Given the description of an element on the screen output the (x, y) to click on. 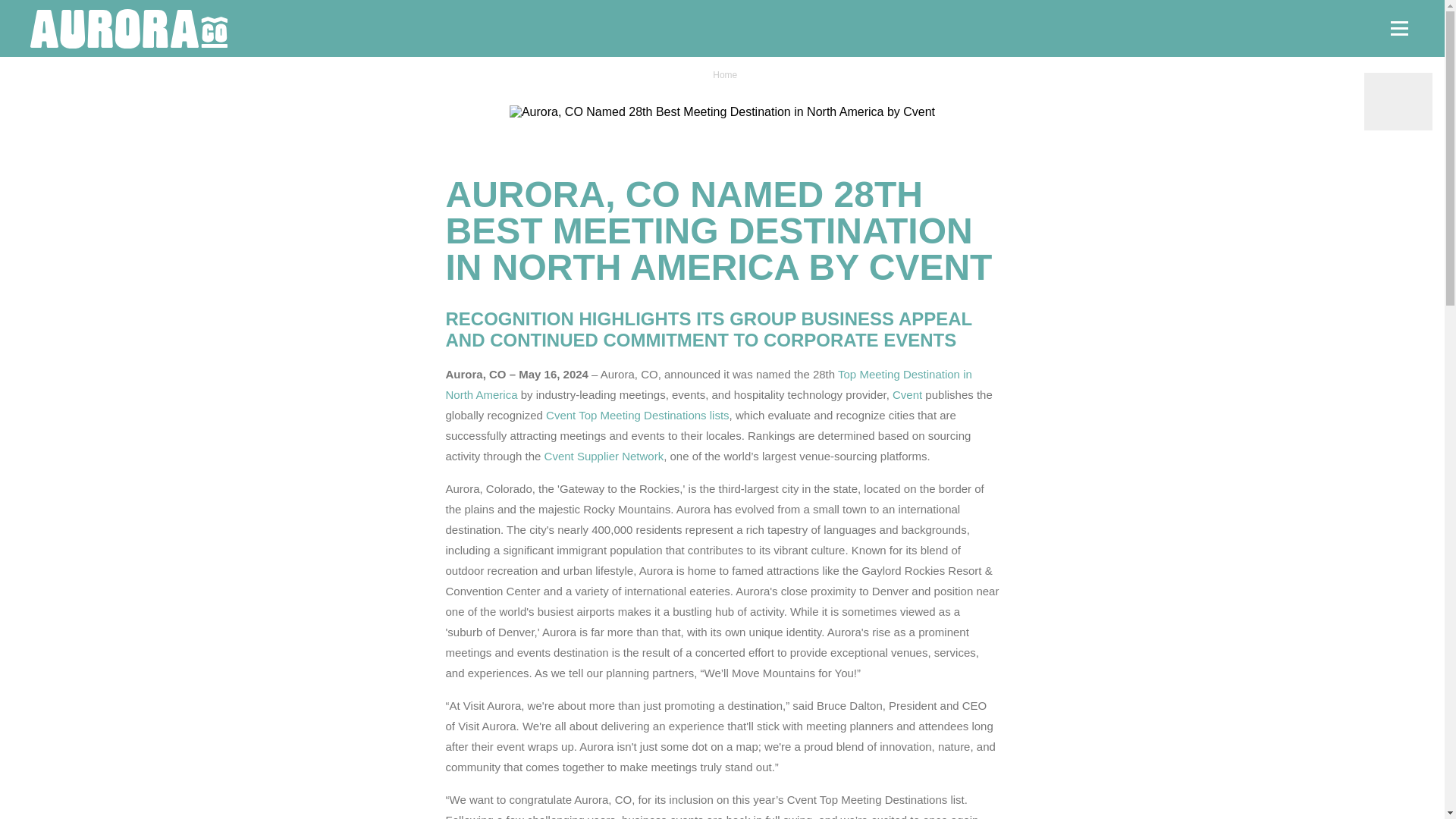
Skip to content (23, 18)
Plan Your Trip (1398, 101)
